Given the description of an element on the screen output the (x, y) to click on. 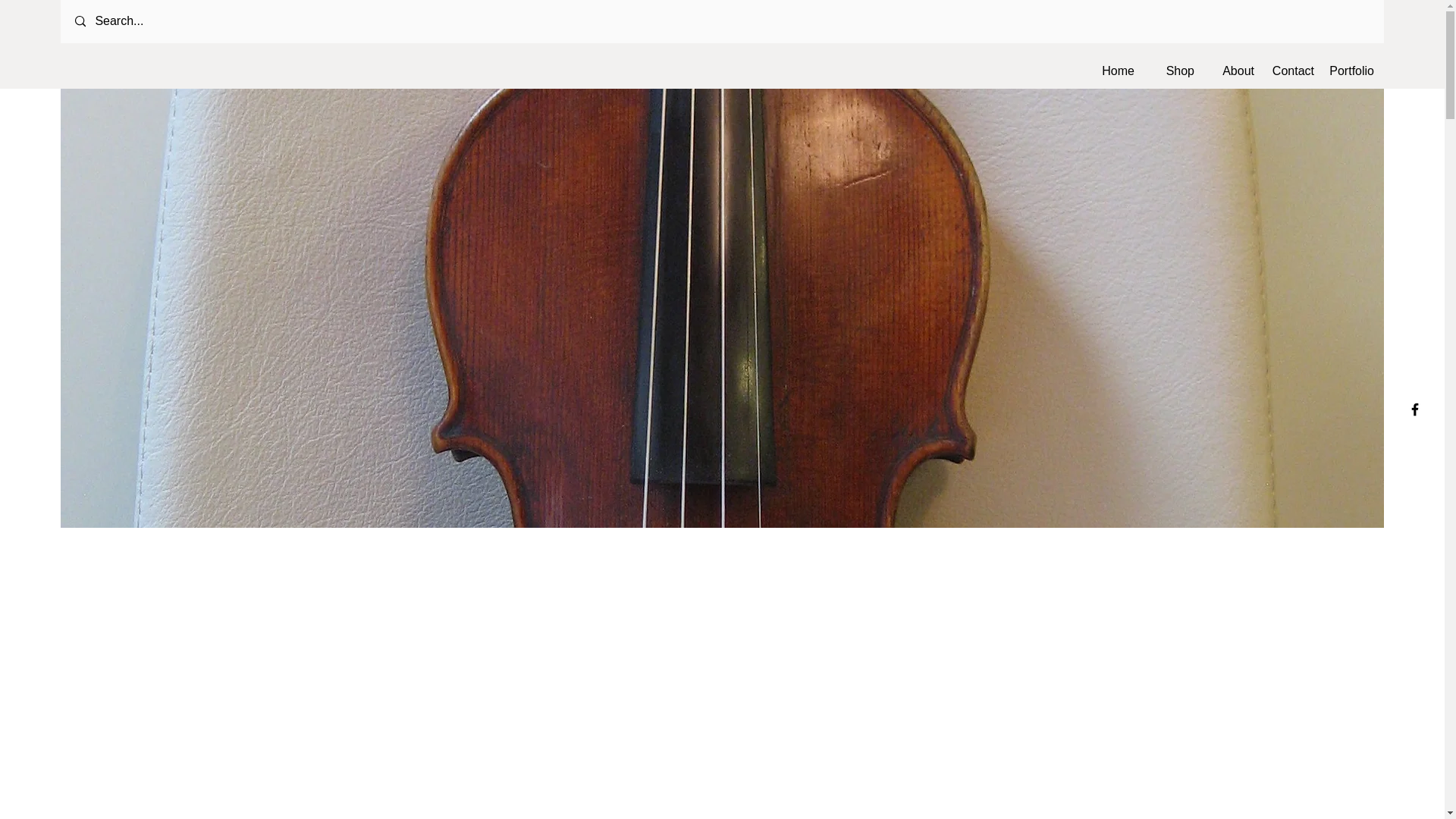
Home (1111, 71)
Portfolio (1351, 71)
Shop (1171, 71)
Contact (1292, 71)
About (1232, 71)
